Given the description of an element on the screen output the (x, y) to click on. 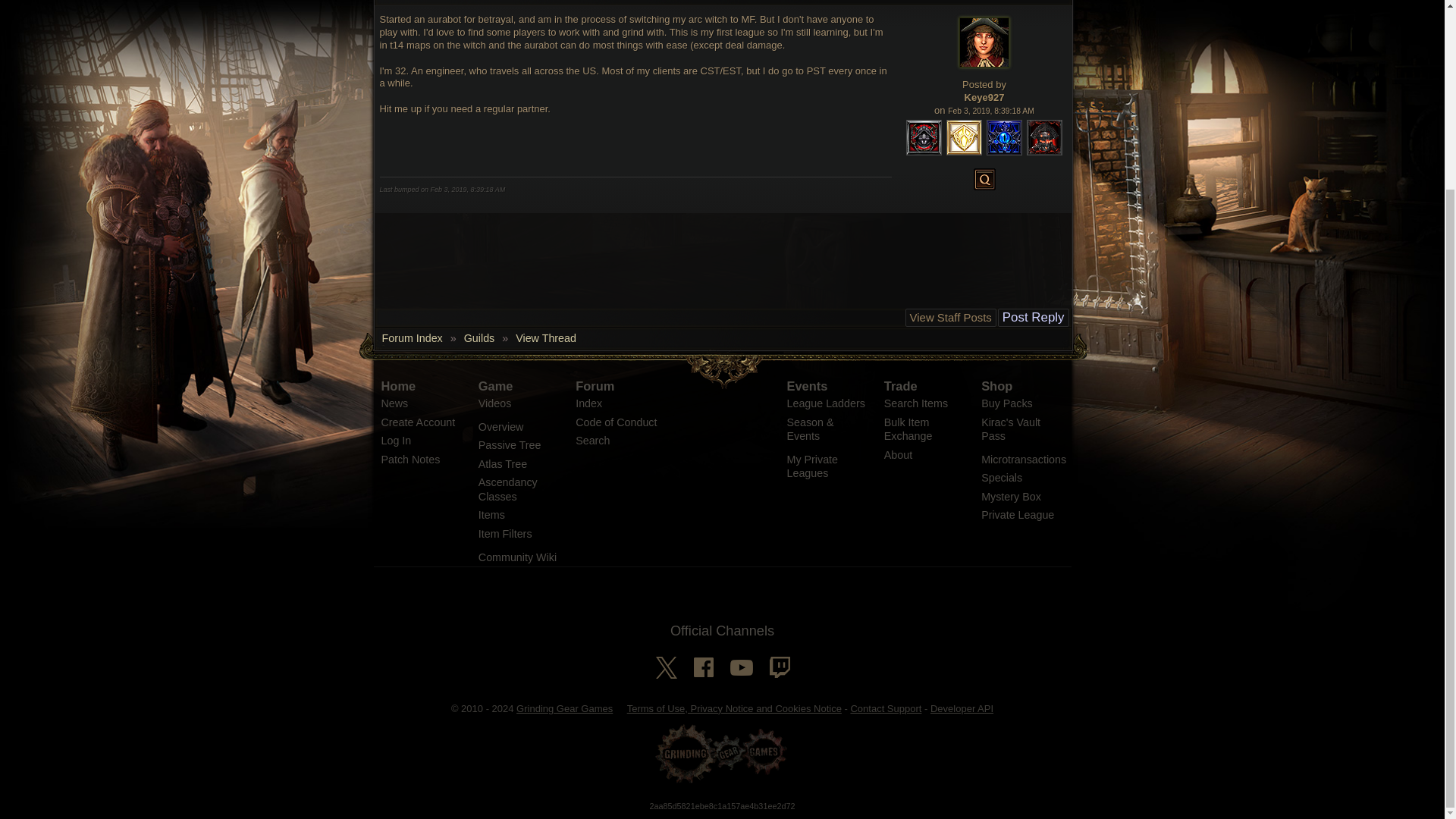
Twitter (665, 667)
Quote this Post (984, 179)
Ancestral Lithomancer Supporter (1044, 137)
Youtube (740, 667)
Facebook (702, 667)
Twitch (778, 667)
Pitfighter Supporter (923, 137)
Sunspire Supporter (964, 137)
Sentinel Overlord Supporter (1004, 137)
